Given the description of an element on the screen output the (x, y) to click on. 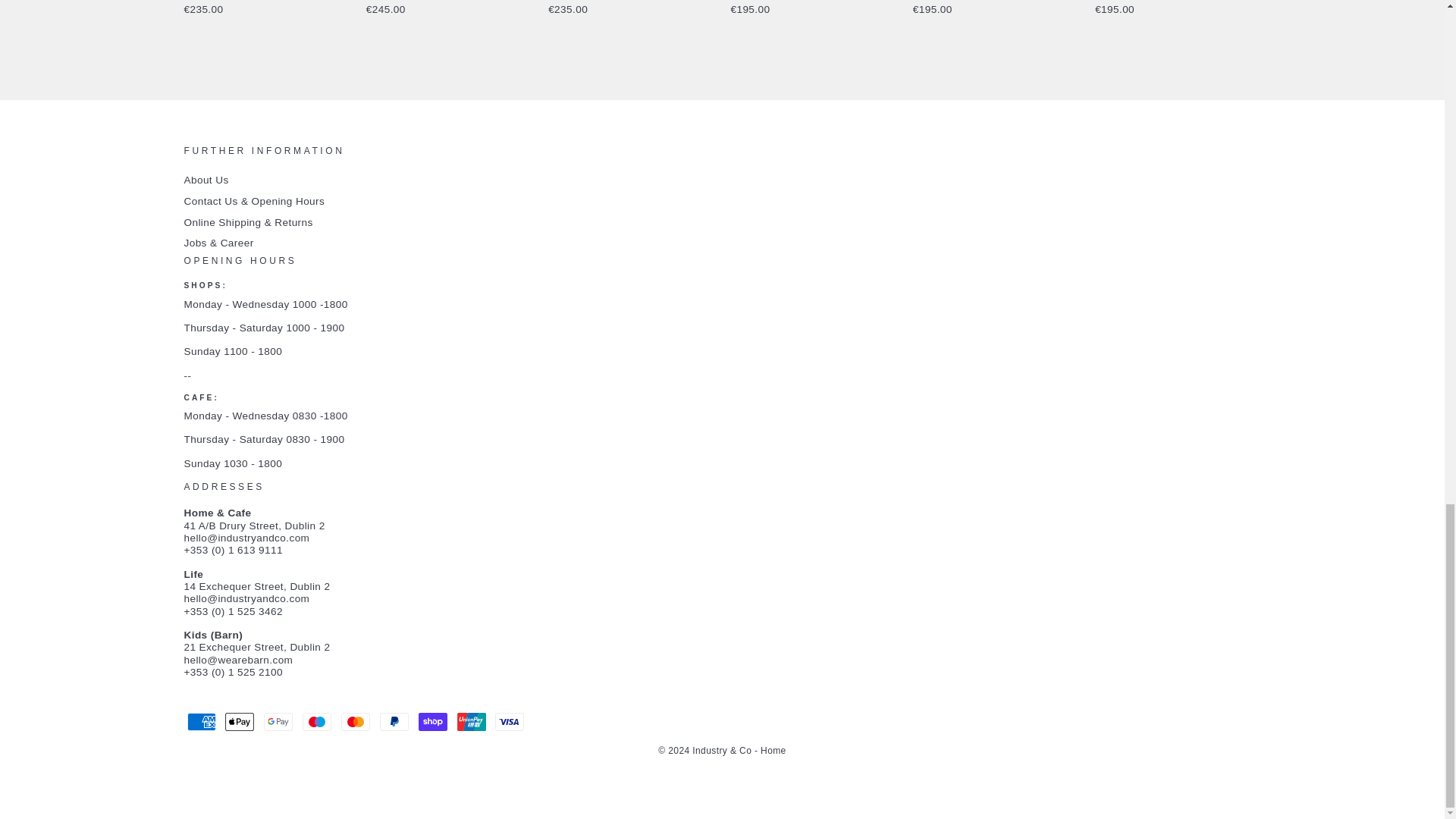
Mastercard (354, 721)
Google Pay (277, 721)
Shop Pay (432, 721)
Union Pay (471, 721)
Apple Pay (239, 721)
Maestro (316, 721)
PayPal (394, 721)
American Express (200, 721)
Visa (509, 721)
